Given the description of an element on the screen output the (x, y) to click on. 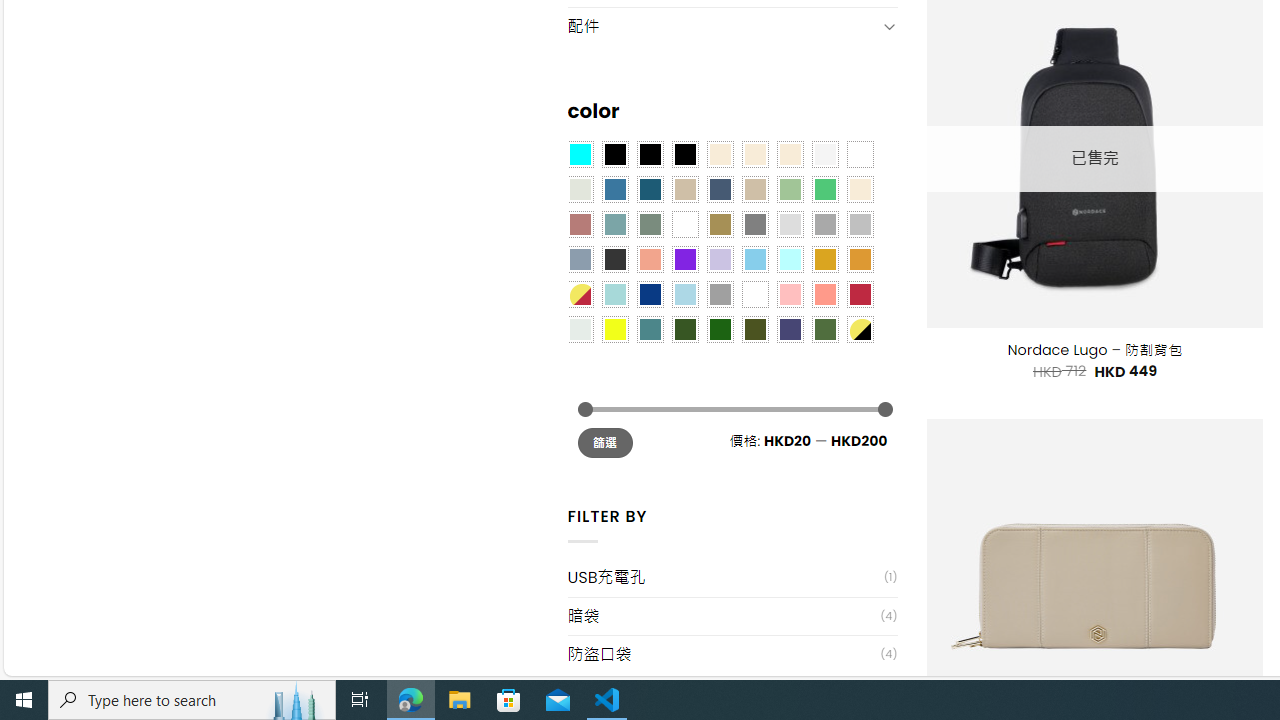
Cream (789, 154)
